Given the description of an element on the screen output the (x, y) to click on. 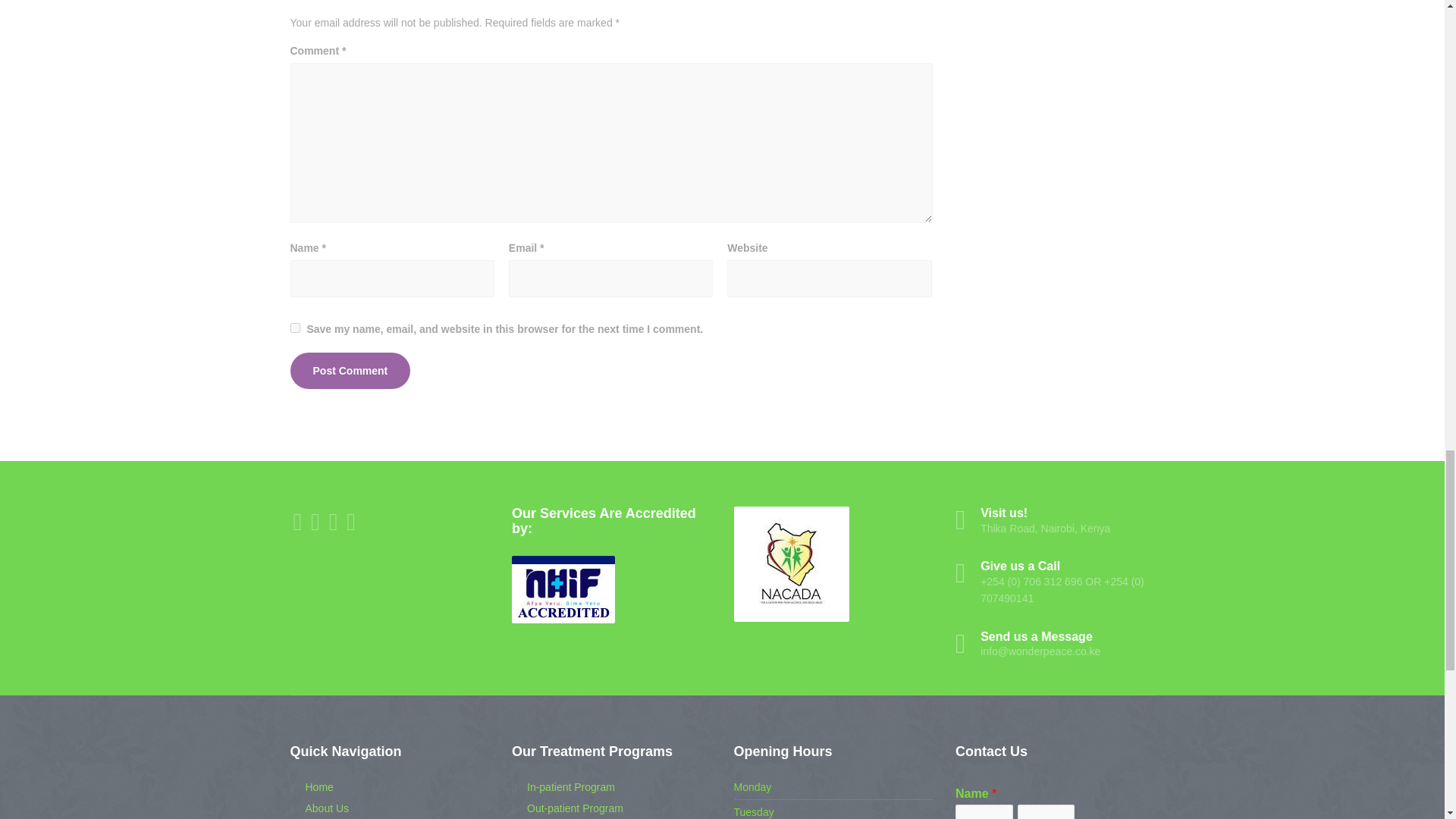
About Us (319, 808)
Post Comment (349, 370)
yes (294, 327)
Post Comment (349, 370)
Our Services Are Accredited by (563, 589)
Home (311, 786)
